Given the description of an element on the screen output the (x, y) to click on. 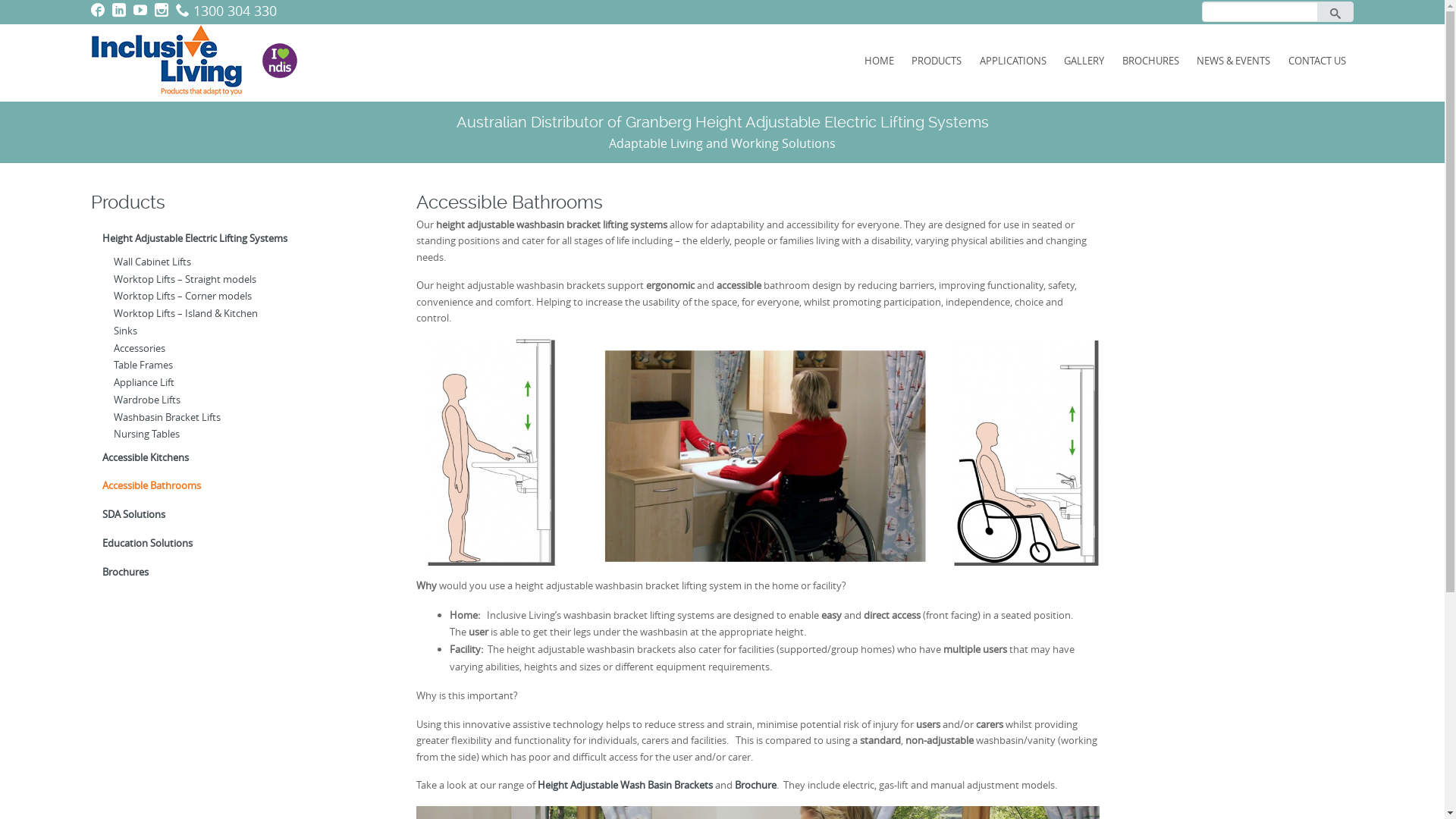
Wardrobe Lifts Element type: text (240, 399)
APPLICATIONS Element type: text (1013, 60)
Accessible Kitchens Element type: text (234, 456)
Inclusive Living Element type: hover (175, 58)
PRODUCTS Element type: text (936, 60)
Wall Cabinet Lifts Element type: text (240, 261)
Table Frames Element type: text (240, 364)
Brochure Element type: text (755, 784)
Accessible Bathrooms Element type: text (234, 485)
HOME Element type: text (878, 60)
Nursing Tables Element type: text (240, 433)
CONTACT US Element type: text (1316, 60)
NEWS & EVENTS Element type: text (1233, 60)
Search Element type: text (1335, 11)
Washbasin Bracket Lifts Element type: text (240, 417)
Height Adjustable Wash Basin Brackets Element type: text (624, 784)
GALLERY Element type: text (1084, 60)
Appliance Lift Element type: text (240, 382)
BROCHURES Element type: text (1150, 60)
SDA Solutions Element type: text (234, 514)
Education Solutions Element type: text (234, 542)
Brochures Element type: text (234, 571)
Sinks Element type: text (240, 330)
SKIP TO CONTENT Element type: text (524, 45)
Height Adjustable Electric Lifting Systems Element type: text (234, 238)
Accessories Element type: text (240, 348)
